Given the description of an element on the screen output the (x, y) to click on. 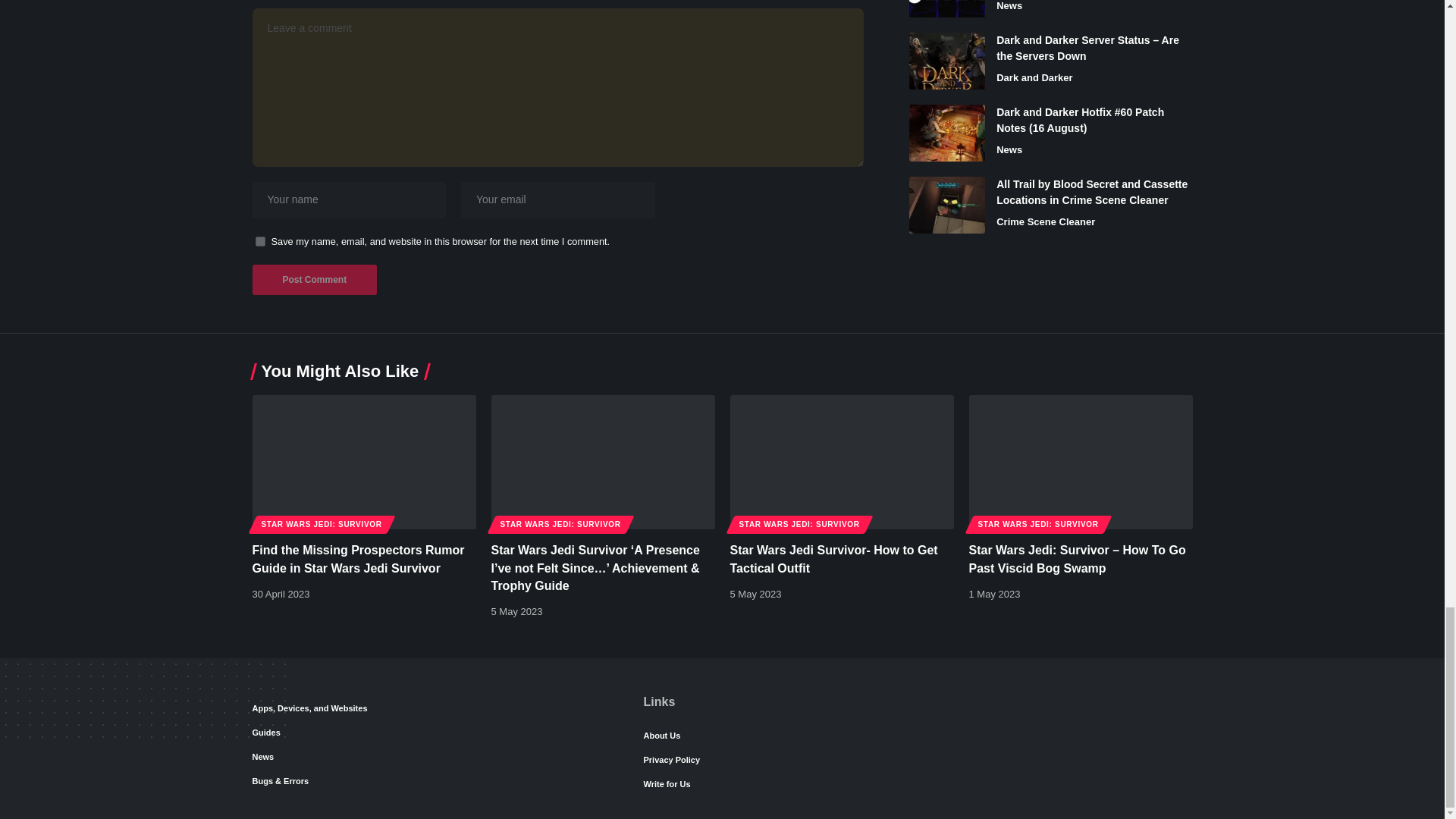
Star Wars Jedi Survivor- How to Get Tactical Outfit (841, 461)
Post Comment (314, 279)
yes (259, 241)
